Given the description of an element on the screen output the (x, y) to click on. 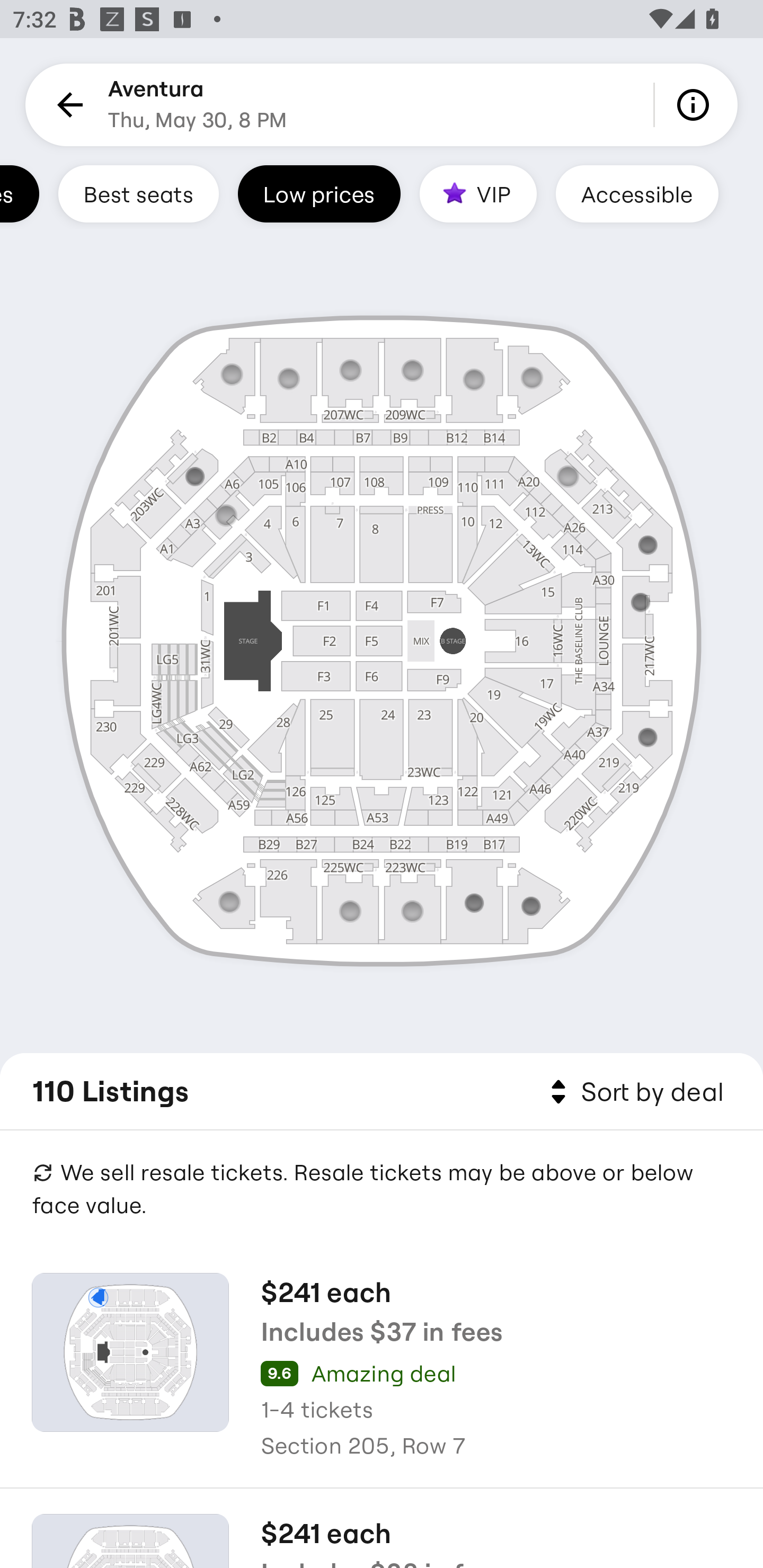
Back (66, 104)
Aventura Thu, May 30, 8 PM (197, 104)
Info (695, 104)
Best seats (137, 193)
Low prices (319, 193)
VIP (477, 193)
Accessible (636, 193)
Sort by deal (633, 1091)
